Given the description of an element on the screen output the (x, y) to click on. 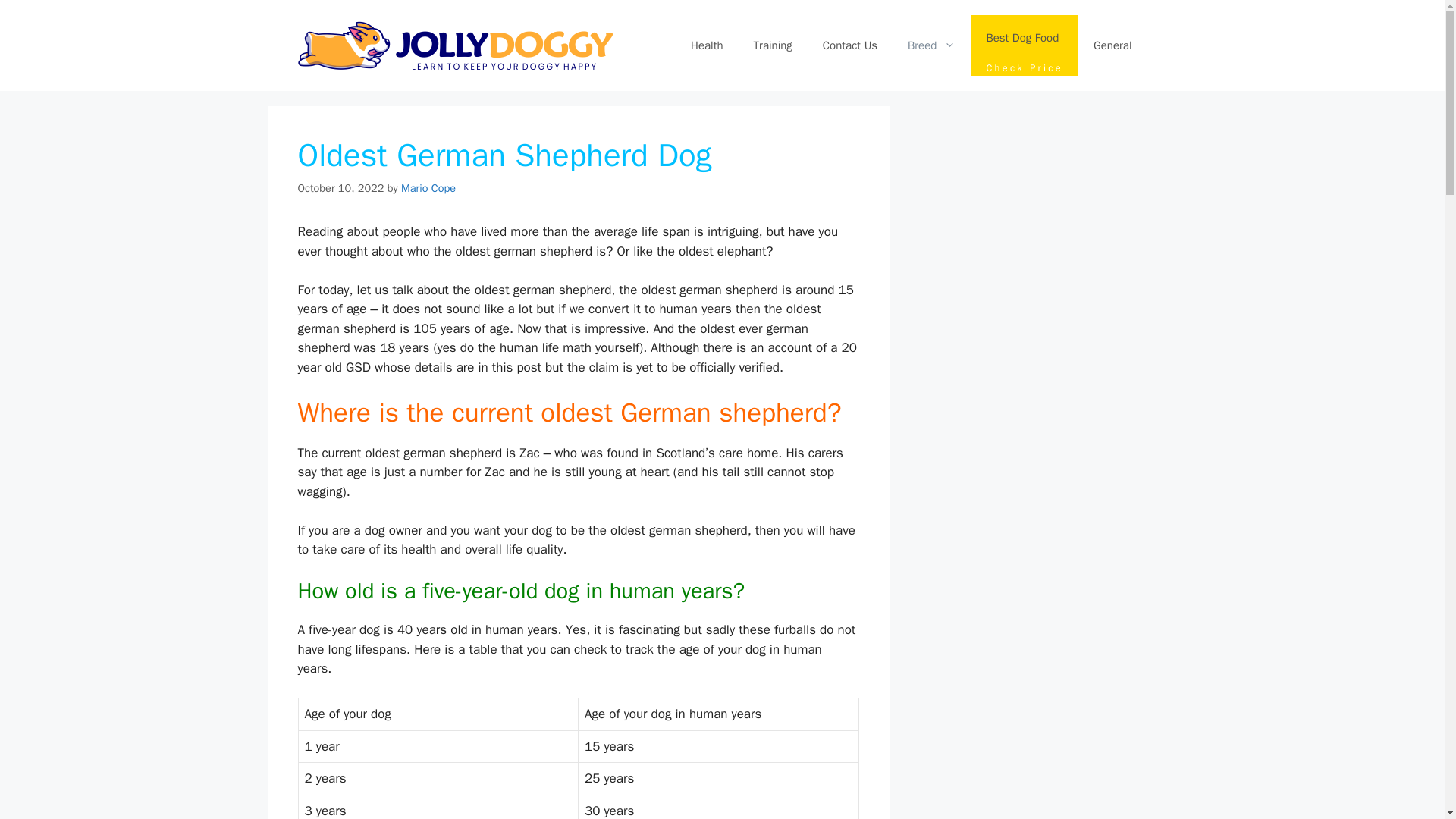
Contact Us (850, 44)
Jolly Doggy (454, 44)
General (1112, 44)
Health (706, 44)
Training (773, 44)
Breed (931, 44)
Mario Cope (428, 187)
View all posts by Mario Cope (428, 187)
Jolly Doggy (1024, 45)
